Given the description of an element on the screen output the (x, y) to click on. 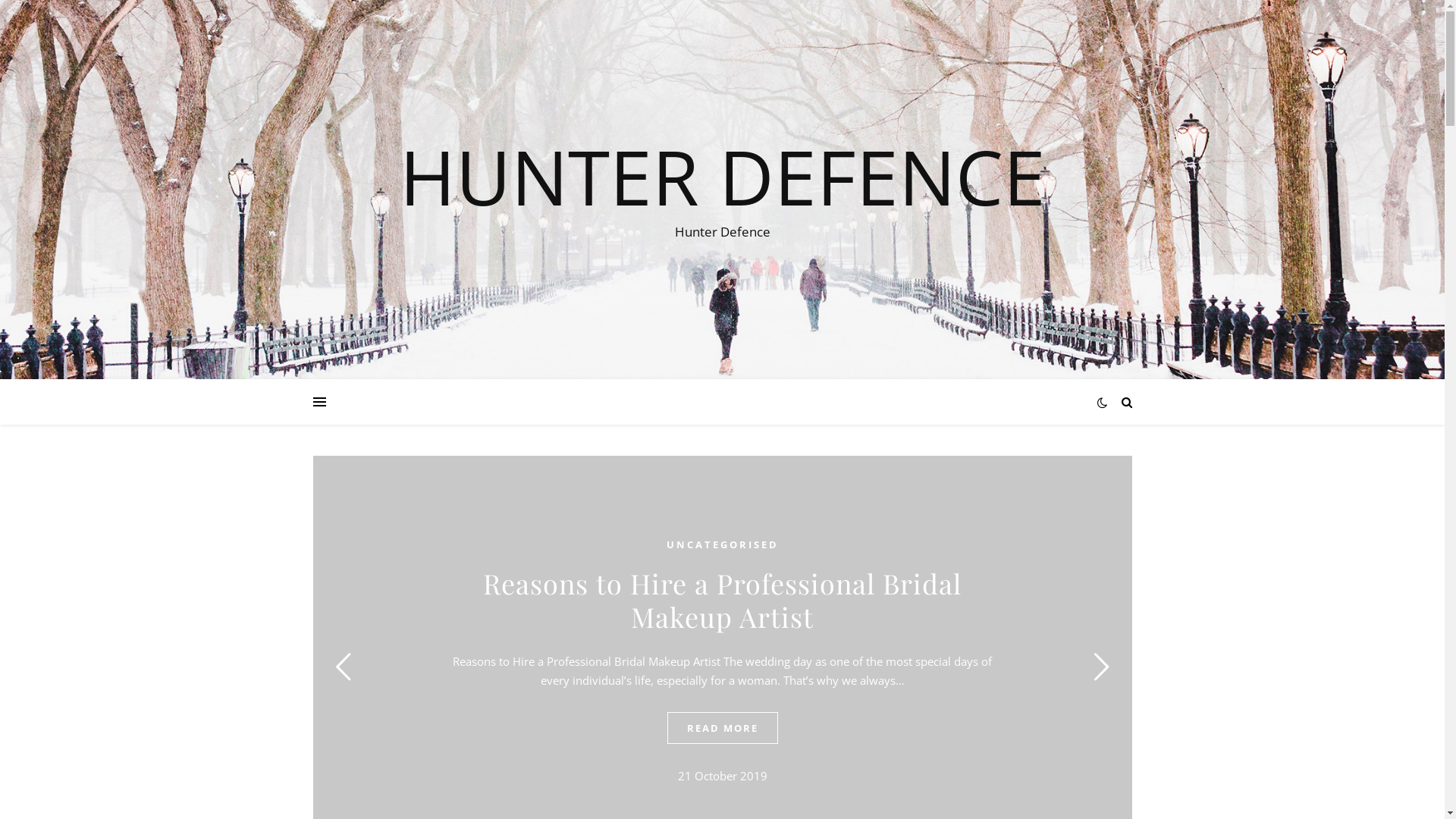
UNCATEGORISED Element type: text (721, 544)
READ MORE Element type: text (722, 727)
HUNTER DEFENCE Element type: text (722, 175)
Reasons to Hire a Professional Bridal Makeup Artist Element type: text (722, 599)
